Given the description of an element on the screen output the (x, y) to click on. 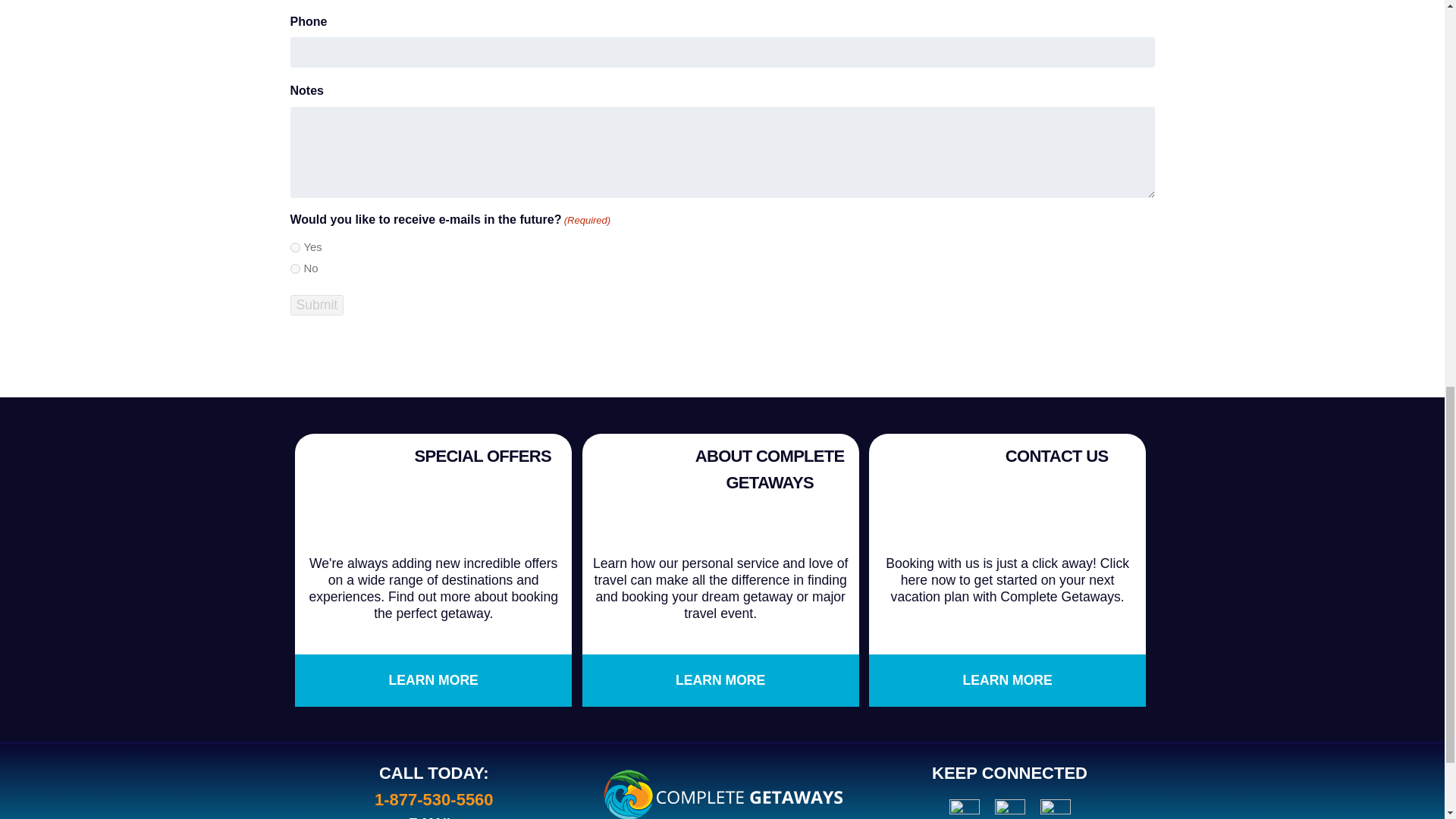
instagram-40 (964, 809)
No (294, 268)
pinterest-40 (1009, 809)
Submit (316, 304)
LEARN MORE (1006, 679)
CONTACT US (1057, 456)
Yes (294, 247)
LEARN MORE (720, 679)
facebook-40 (1055, 809)
SPECIAL OFFERS (482, 456)
